Given the description of an element on the screen output the (x, y) to click on. 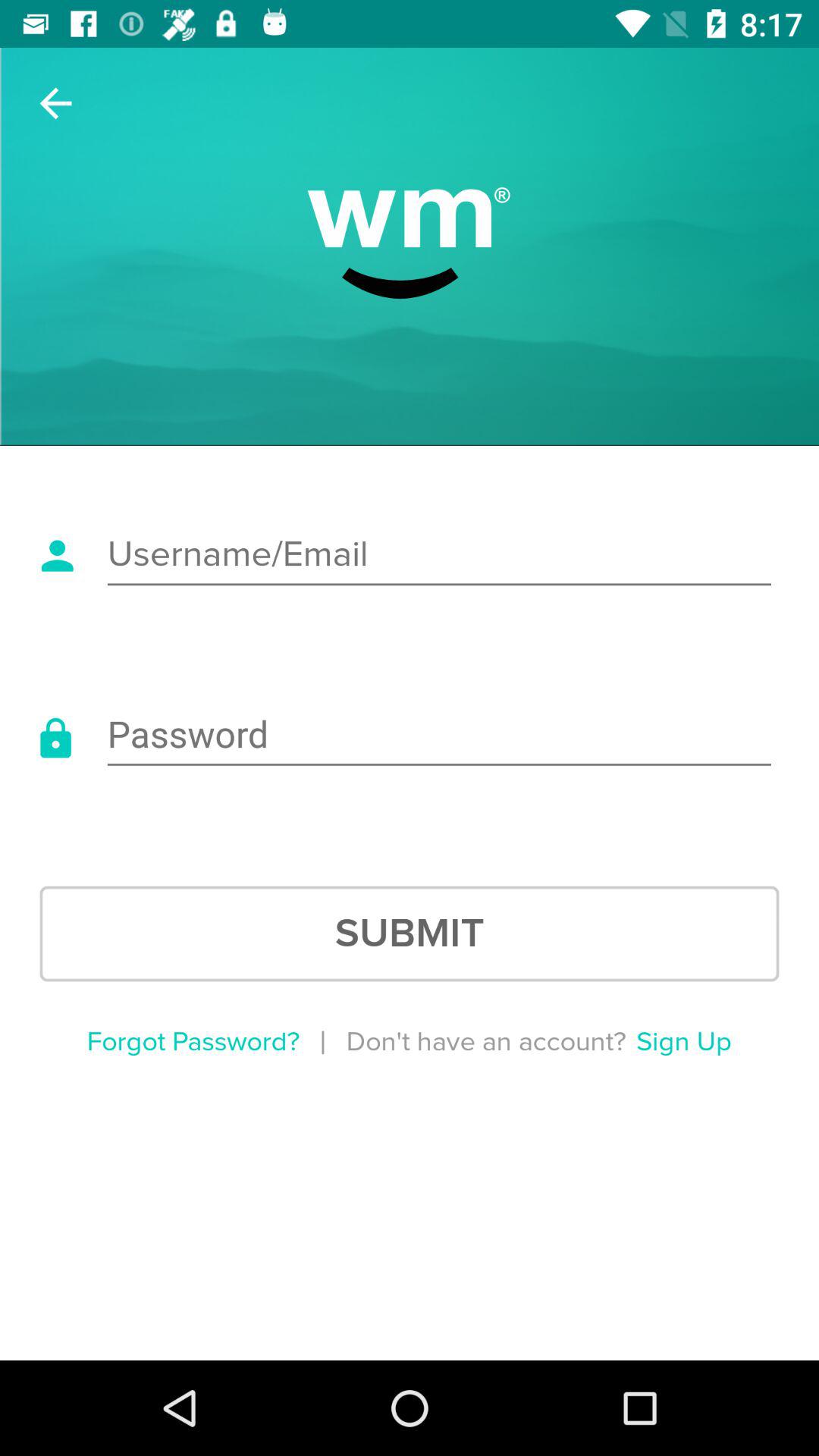
launch forgot password? at the bottom left corner (193, 1042)
